Given the description of an element on the screen output the (x, y) to click on. 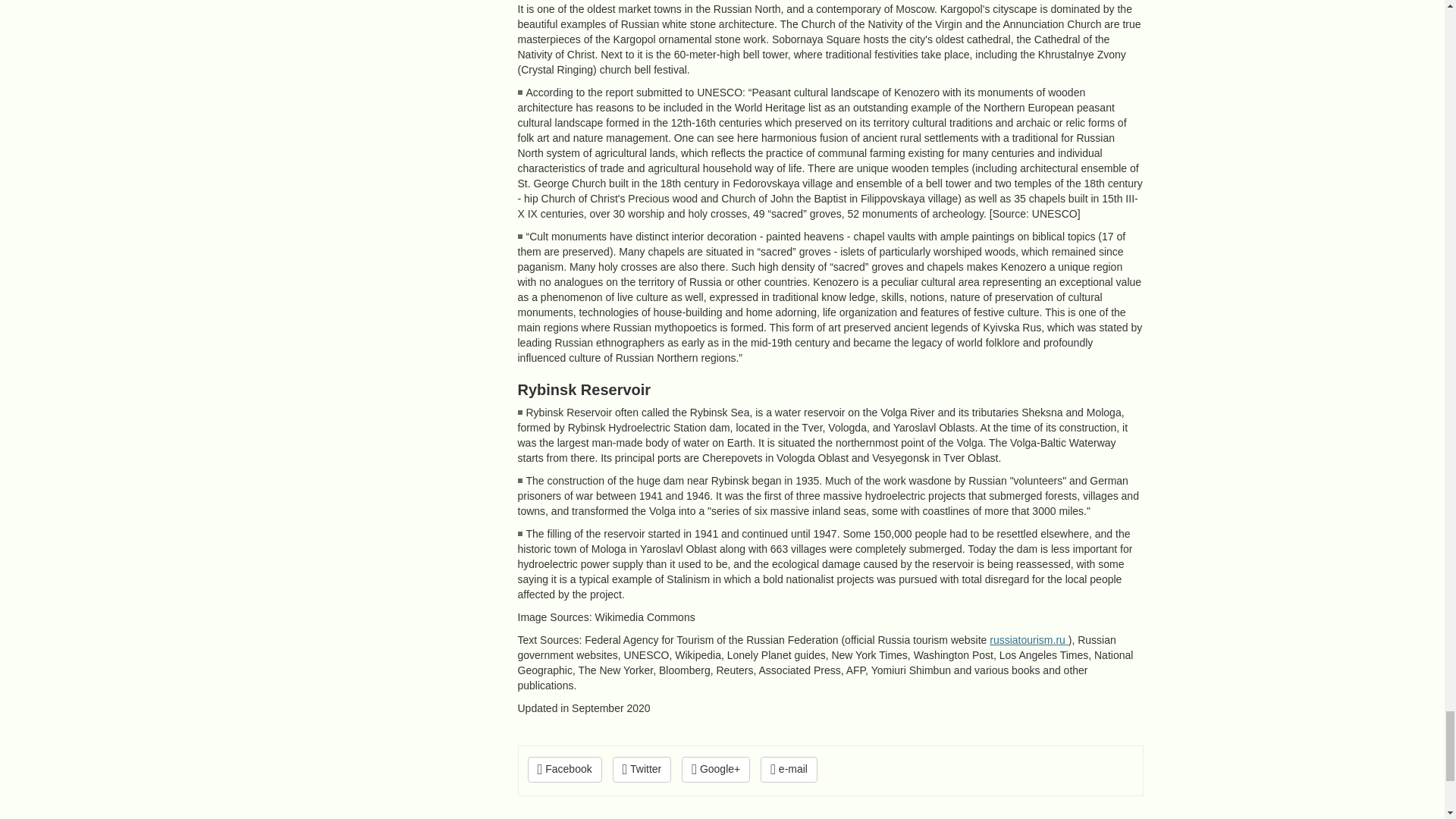
 e-mail (788, 769)
 Facebook (564, 769)
russiatourism.ru (1028, 639)
 Page Top (1117, 818)
e-mail a link to this page (788, 769)
 Twitter (641, 769)
